Given the description of an element on the screen output the (x, y) to click on. 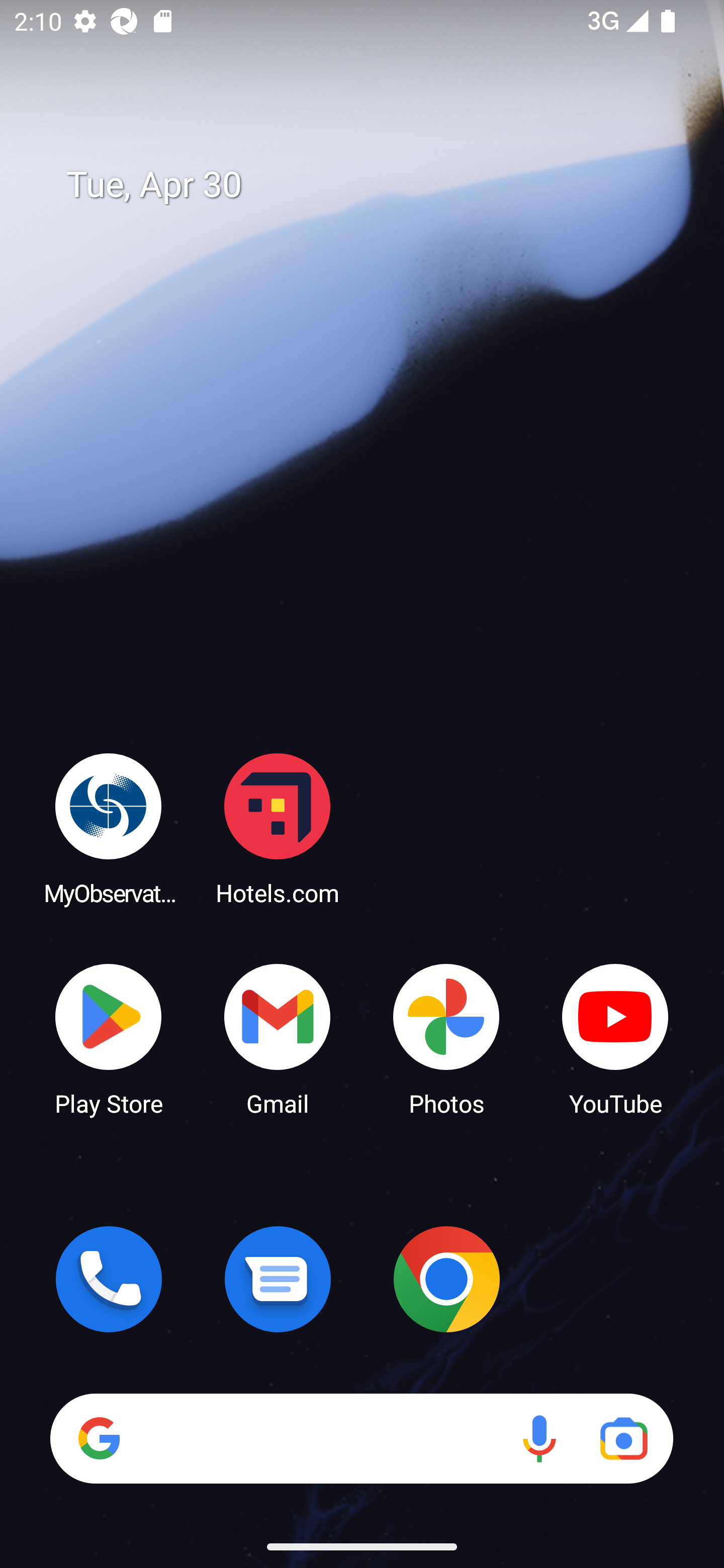
Tue, Apr 30 (375, 184)
MyObservatory (108, 828)
Hotels.com (277, 828)
Play Store (108, 1038)
Gmail (277, 1038)
Photos (445, 1038)
YouTube (615, 1038)
Phone (108, 1279)
Messages (277, 1279)
Chrome (446, 1279)
Search Voice search Google Lens (361, 1438)
Voice search (539, 1438)
Google Lens (623, 1438)
